Given the description of an element on the screen output the (x, y) to click on. 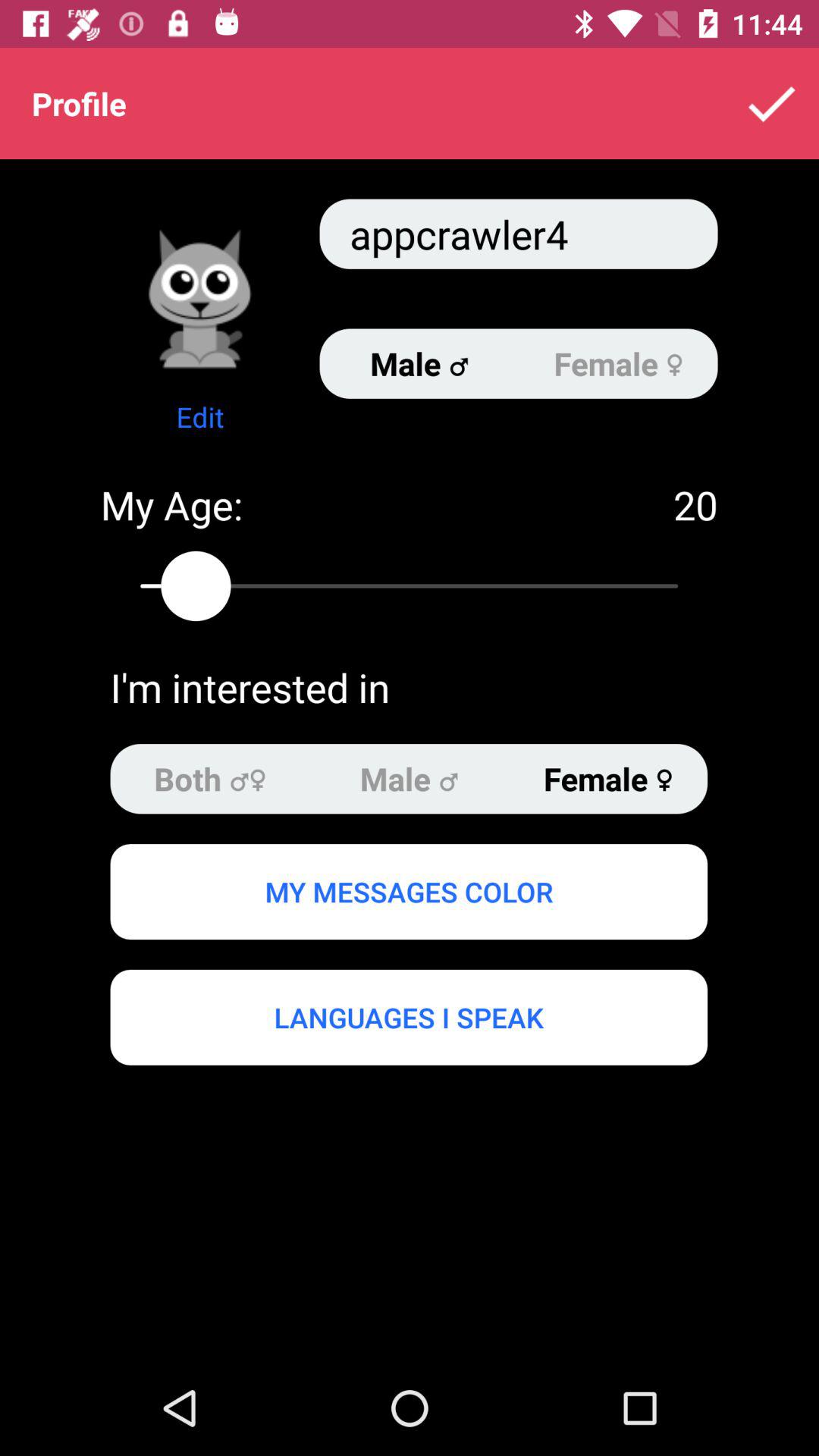
select item above appcrawler4 icon (771, 103)
